Given the description of an element on the screen output the (x, y) to click on. 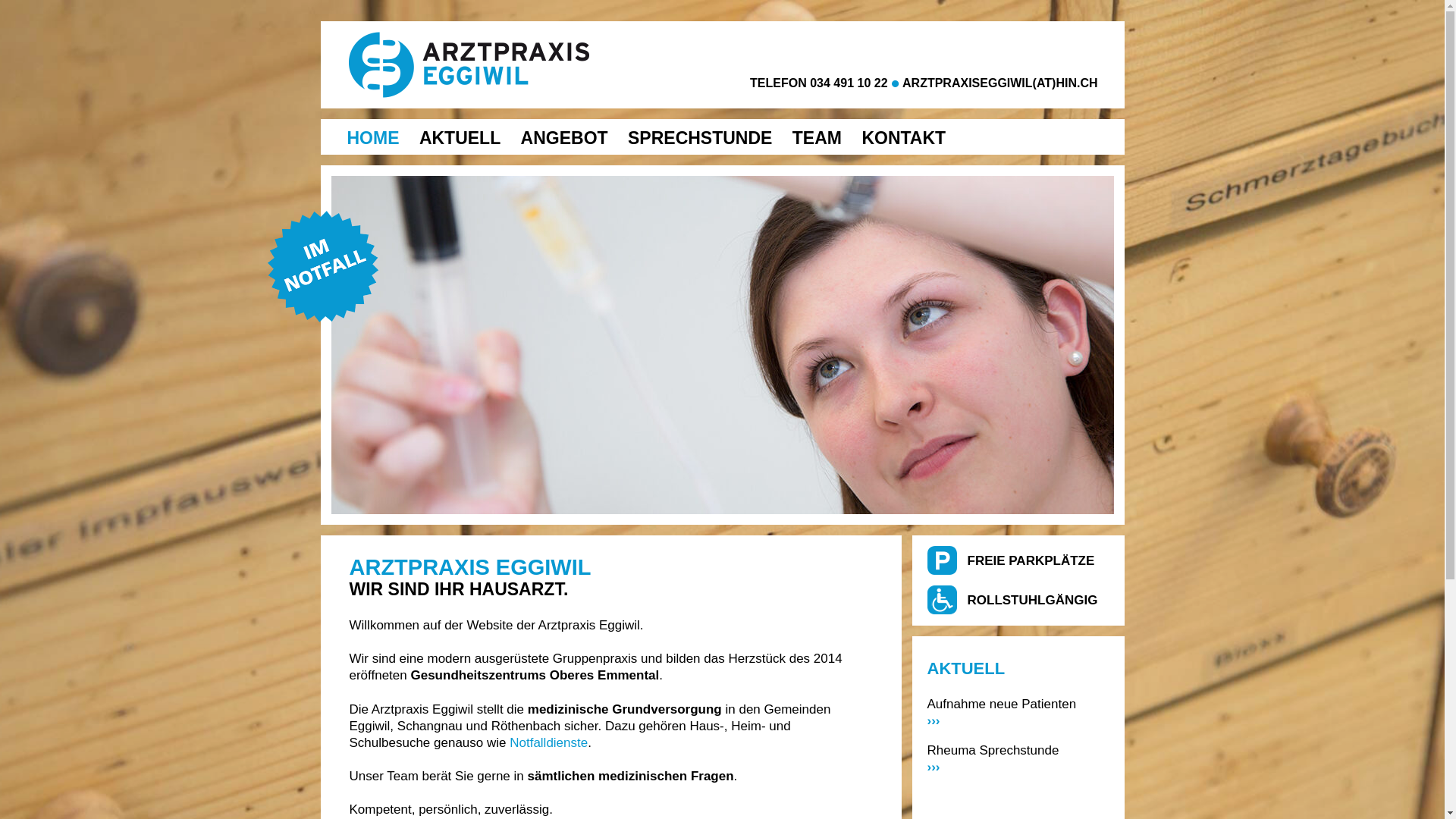
ANGEBOT Element type: text (564, 138)
ARZTPRAXISEGGIWIL(AT)HIN.CH Element type: text (999, 82)
Notfalldienste Element type: text (548, 742)
AKTUELL Element type: text (459, 138)
HOME Element type: text (373, 138)
KONTAKT Element type: text (903, 138)
SPRECHSTUNDE Element type: text (699, 138)
TEAM Element type: text (816, 138)
